Given the description of an element on the screen output the (x, y) to click on. 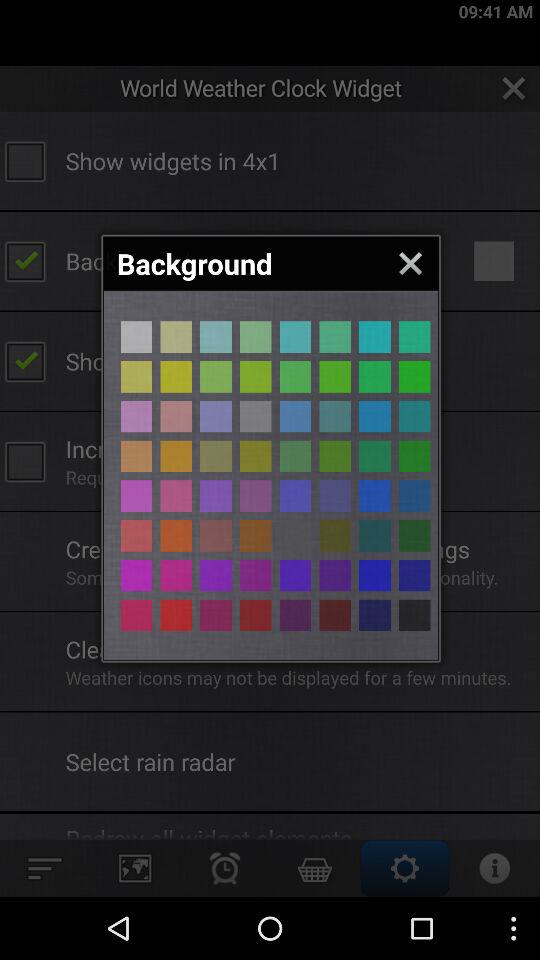
backround (374, 416)
